Given the description of an element on the screen output the (x, y) to click on. 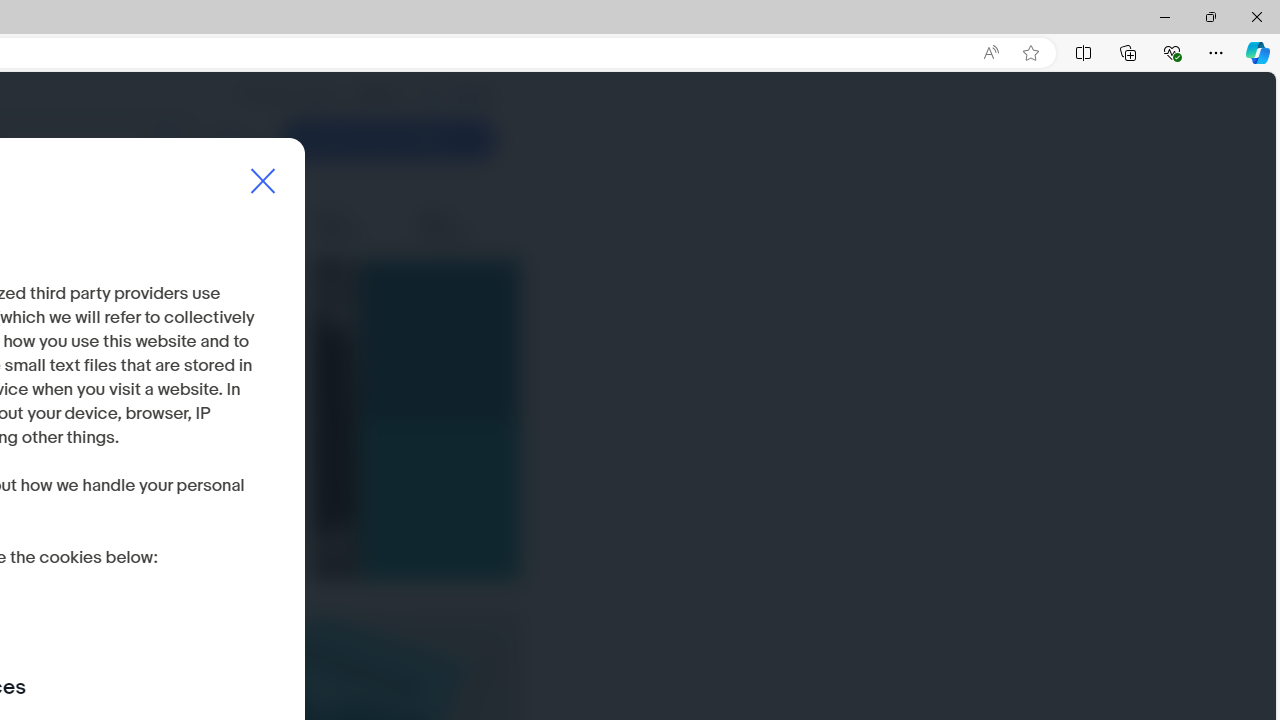
Decline all (68, 559)
Regulations & policies (139, 225)
SEA (465, 95)
